Given the description of an element on the screen output the (x, y) to click on. 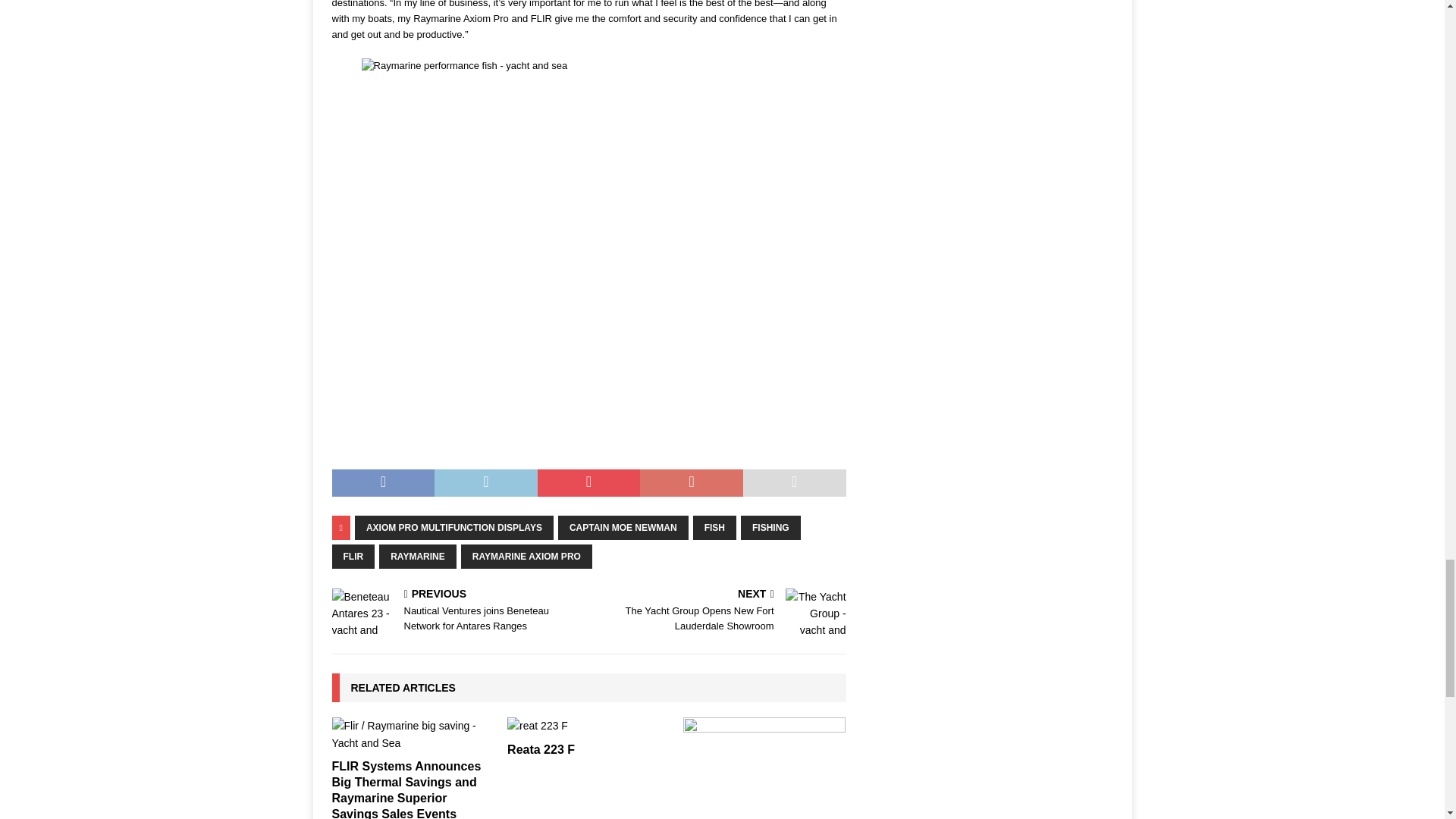
Reata 223 F (587, 725)
